Given the description of an element on the screen output the (x, y) to click on. 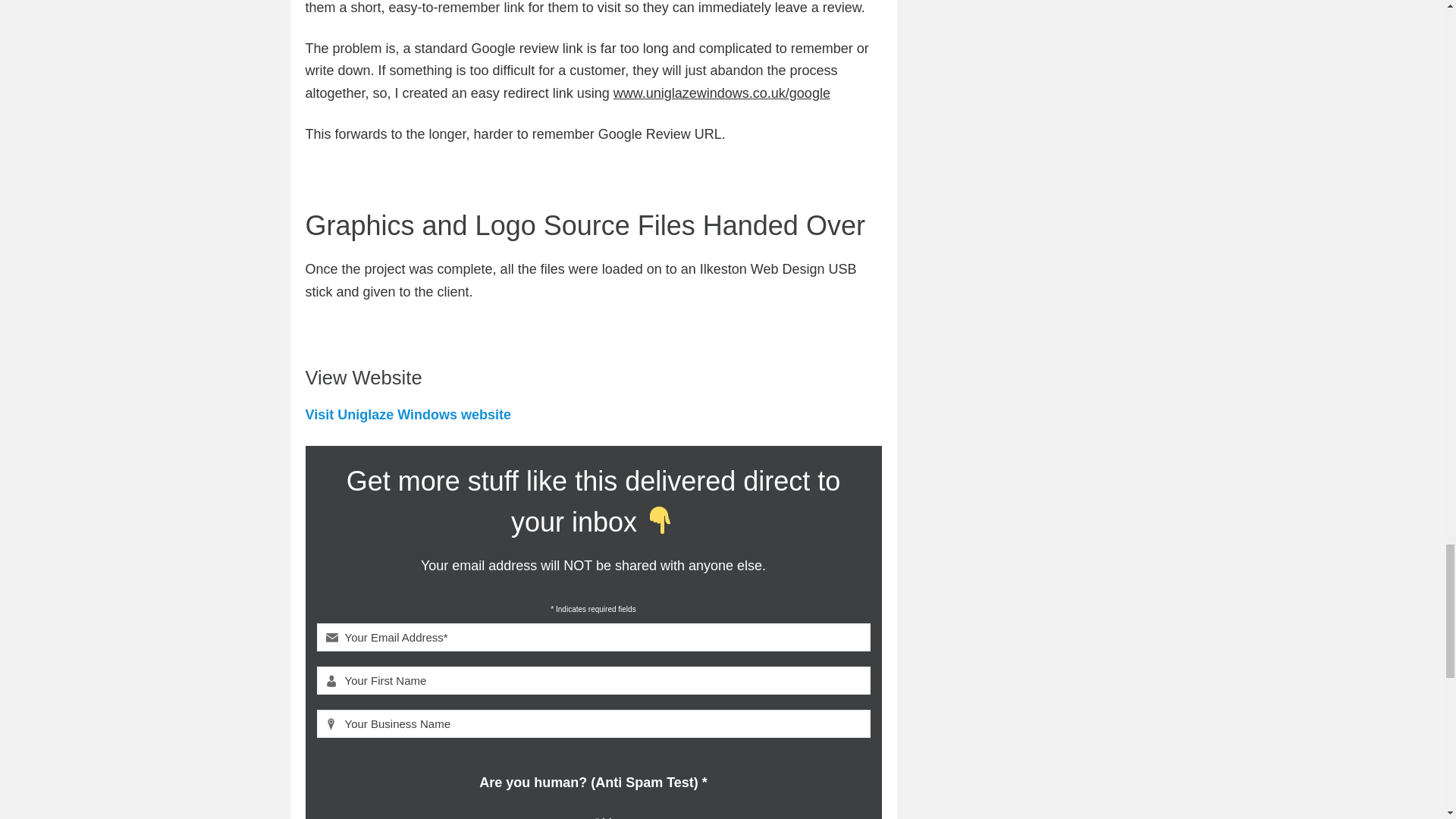
Your Business Name (593, 723)
Your First Name (593, 680)
